Given the description of an element on the screen output the (x, y) to click on. 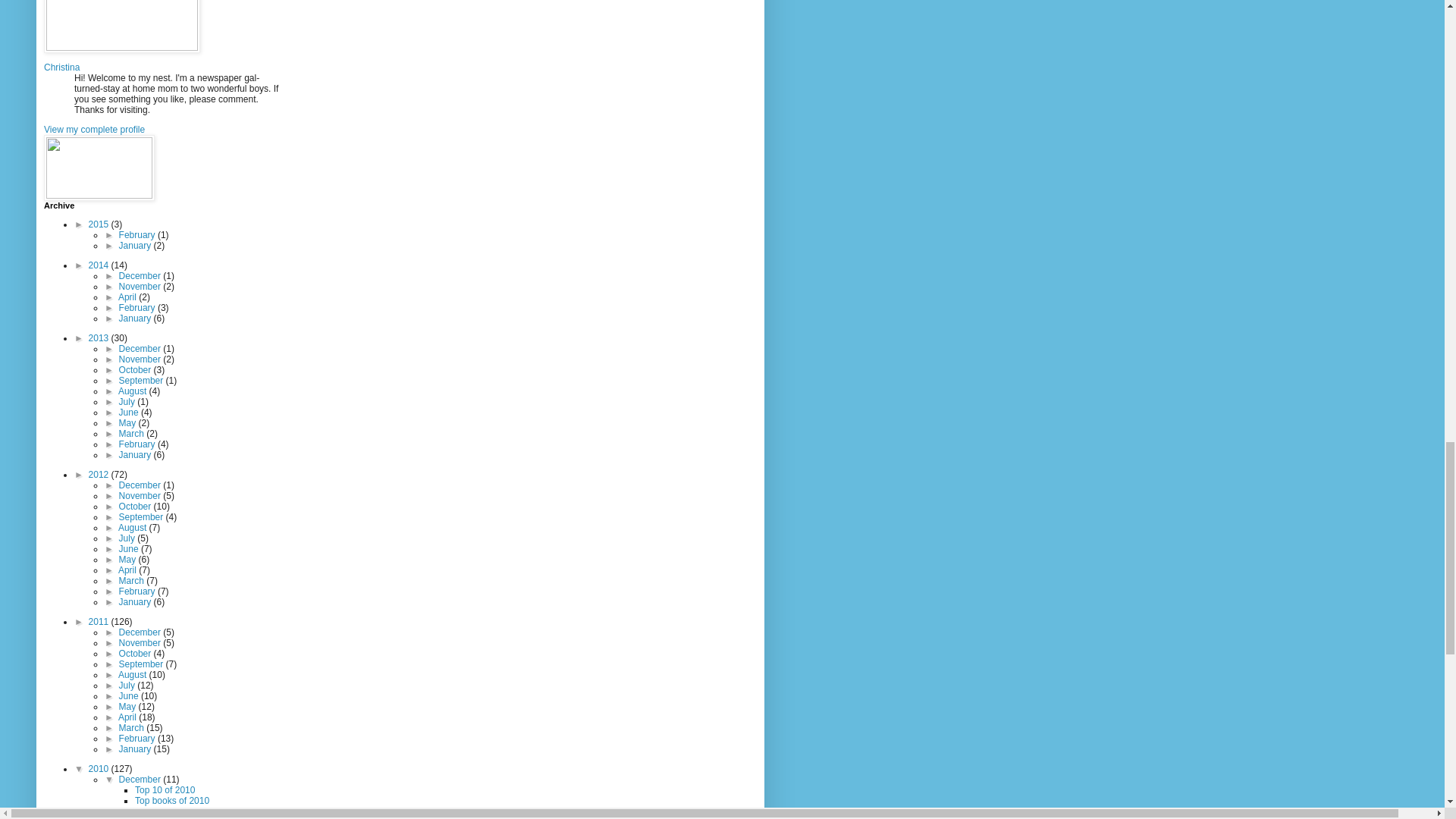
View my complete profile (93, 129)
Christina (61, 67)
